Given the description of an element on the screen output the (x, y) to click on. 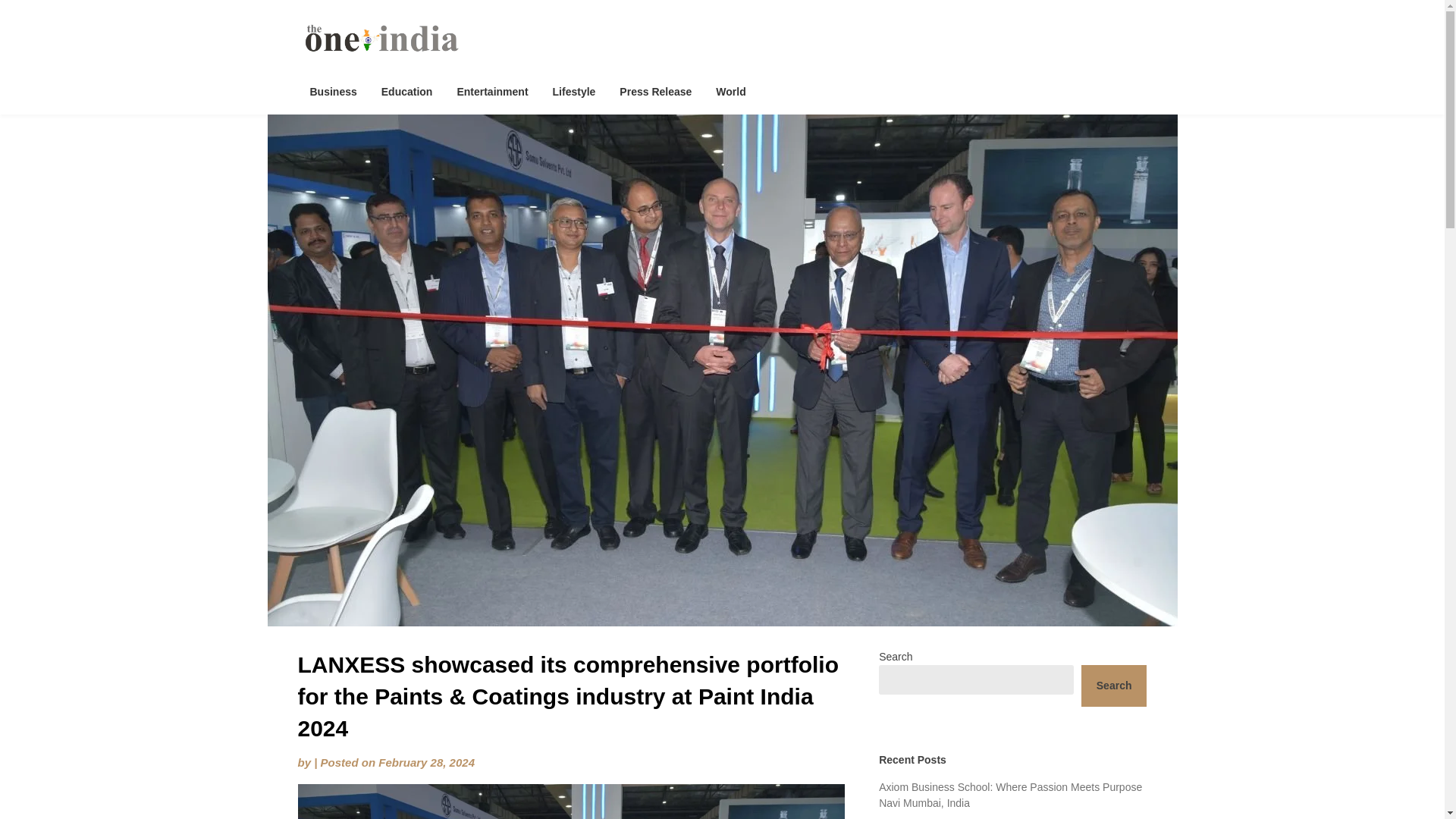
Lifestyle (574, 91)
February 28, 2024 (426, 762)
Business (332, 91)
World (730, 91)
Press Release (655, 91)
Entertainment (492, 91)
Search (1114, 685)
Education (407, 91)
